Given the description of an element on the screen output the (x, y) to click on. 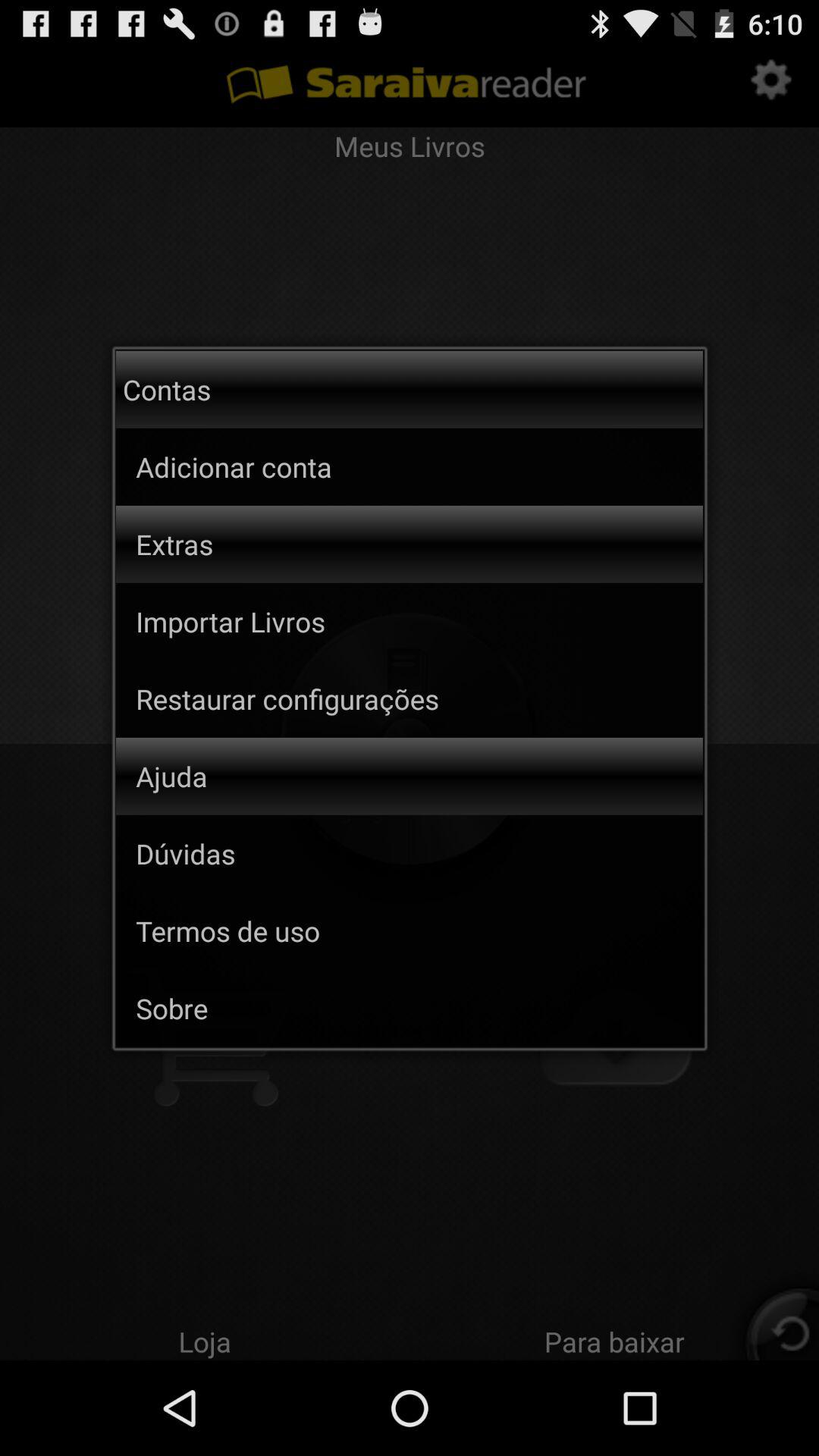
turn off importar livros (418, 621)
